Given the description of an element on the screen output the (x, y) to click on. 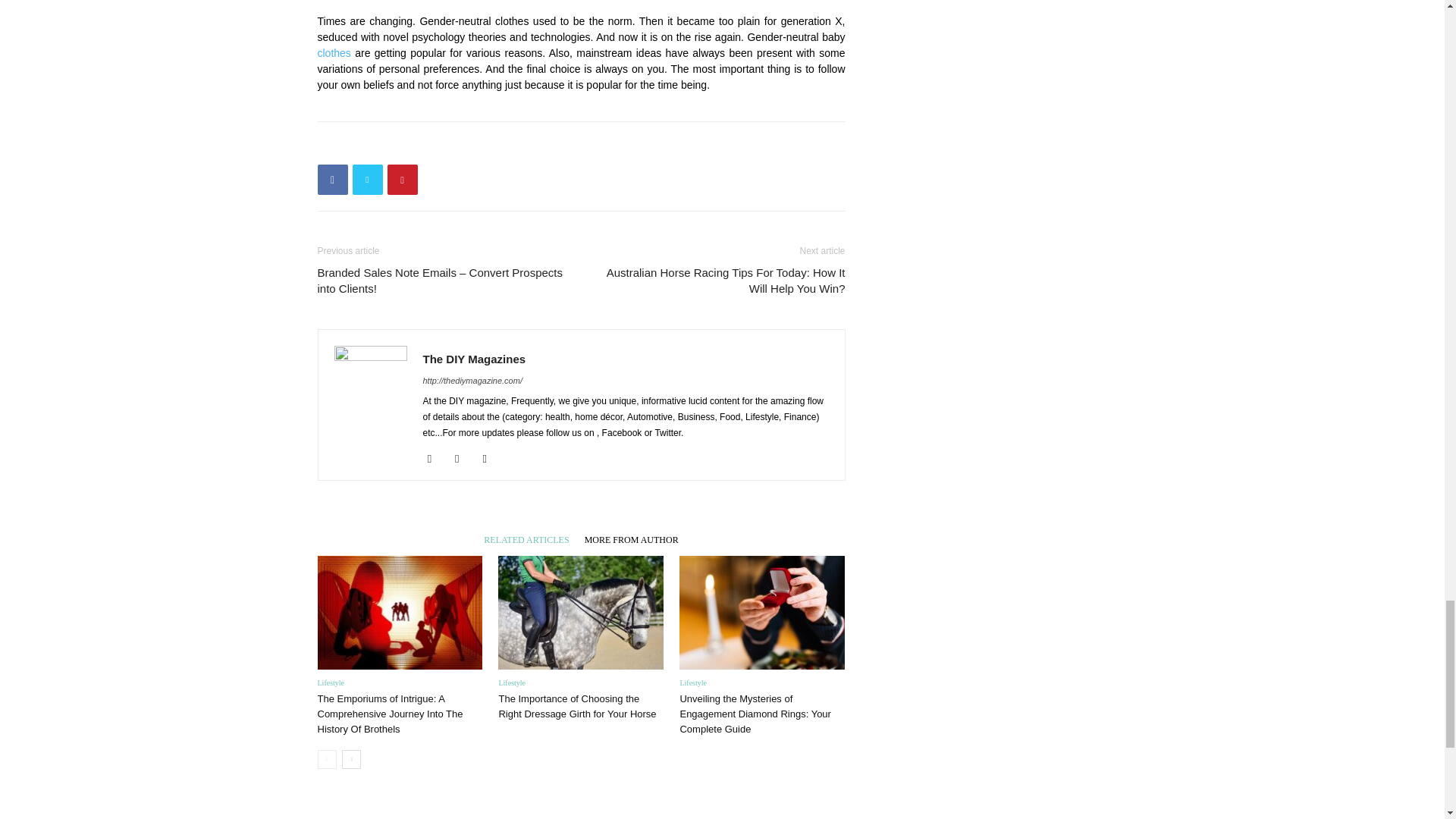
Facebook (435, 458)
Twitter (489, 458)
Instagram (462, 458)
